Given the description of an element on the screen output the (x, y) to click on. 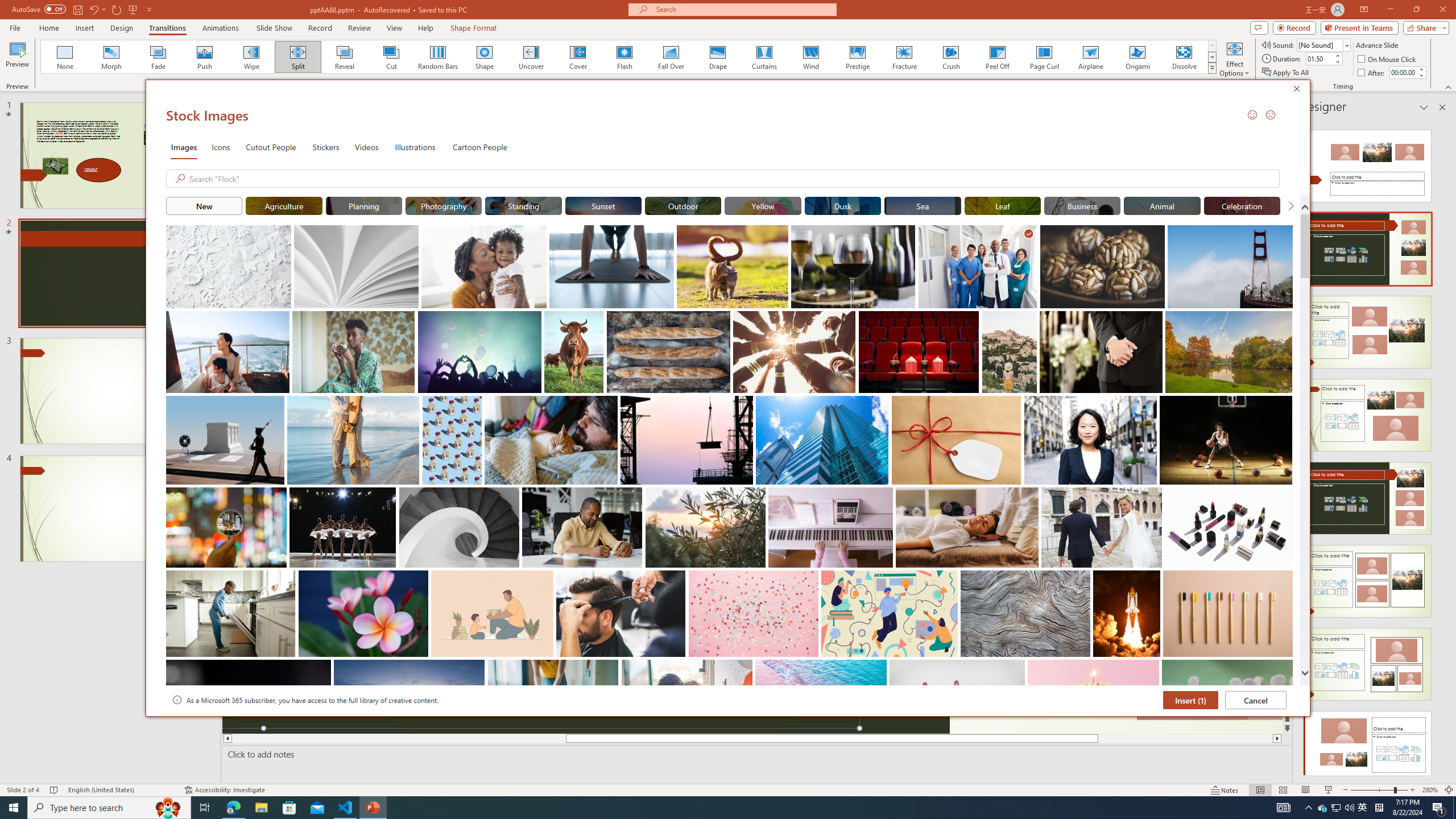
Send a Smile (1251, 114)
Cartoon People (479, 146)
Slide Sorter (1282, 790)
Task View (204, 807)
Normal (1260, 790)
"New" Stock Images. (203, 205)
Cut (391, 56)
Slide Show (273, 28)
"Sunset" Stock Images. (603, 205)
Save (77, 9)
